Given the description of an element on the screen output the (x, y) to click on. 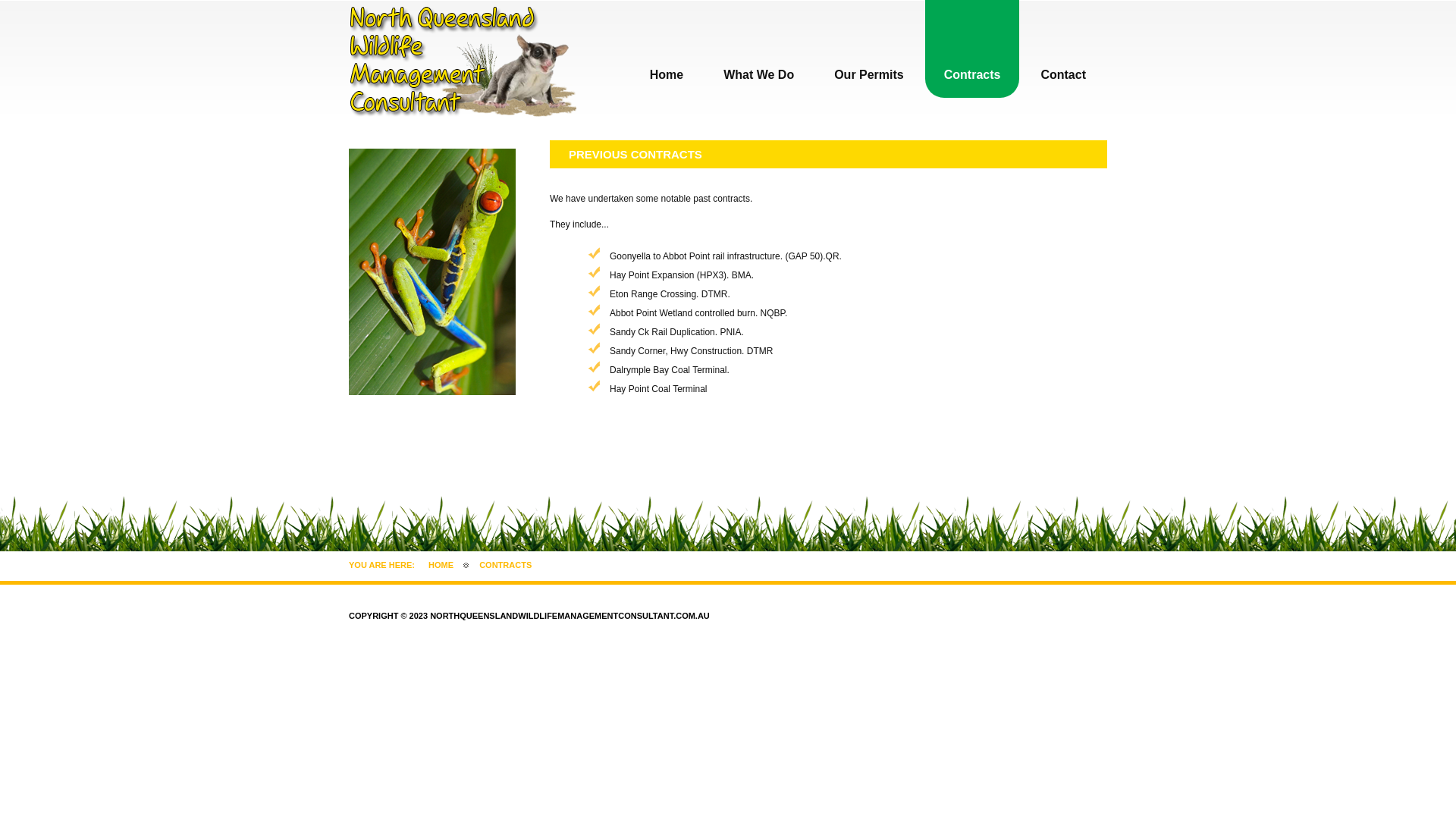
HOME Element type: text (440, 564)
Contact Element type: text (1062, 48)
Home Element type: text (666, 48)
Our Permits Element type: text (868, 48)
What We Do Element type: text (758, 48)
Contracts Element type: text (972, 48)
